Given the description of an element on the screen output the (x, y) to click on. 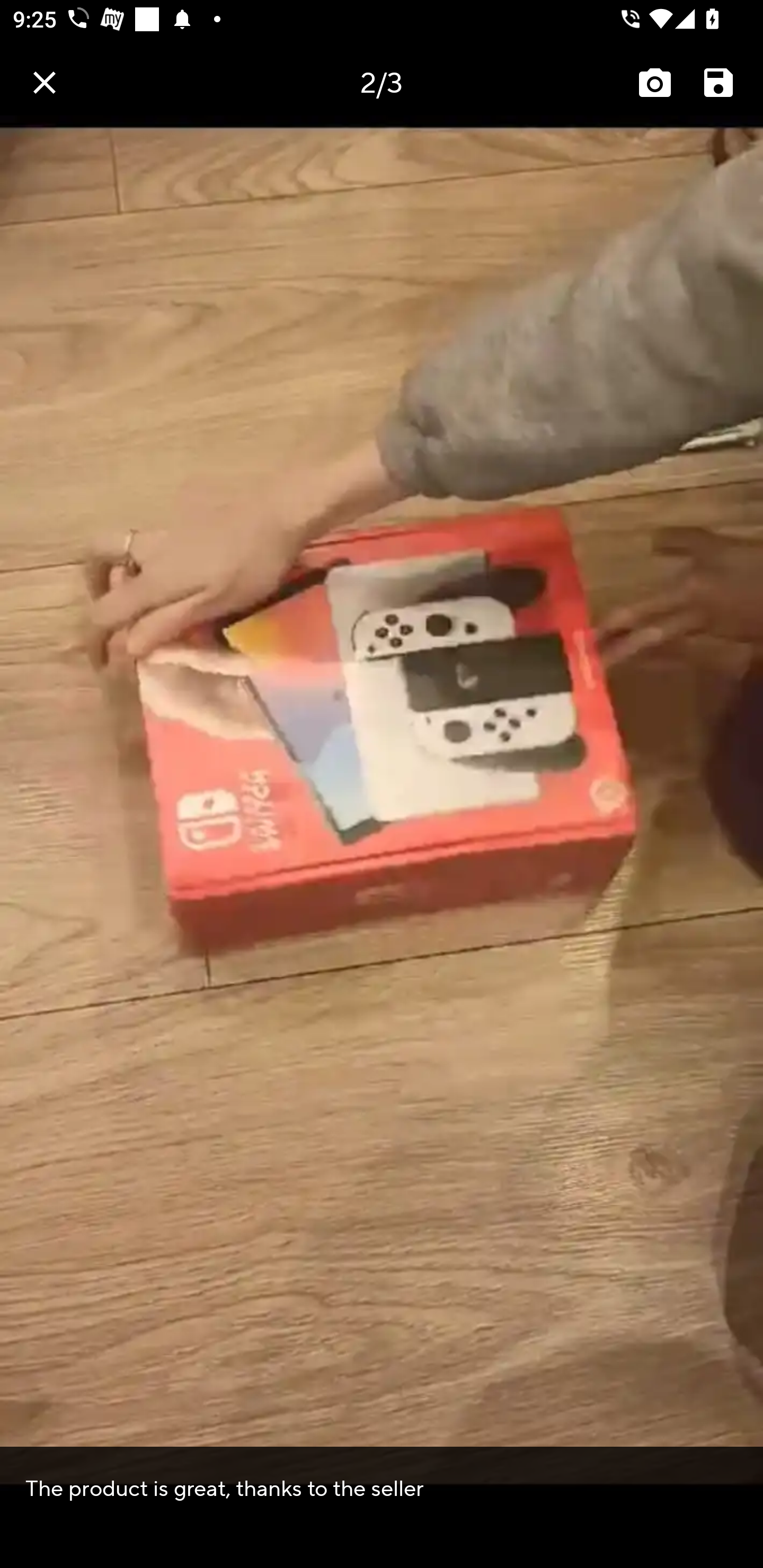
The product is great, thanks to the seller (381, 1487)
